Given the description of an element on the screen output the (x, y) to click on. 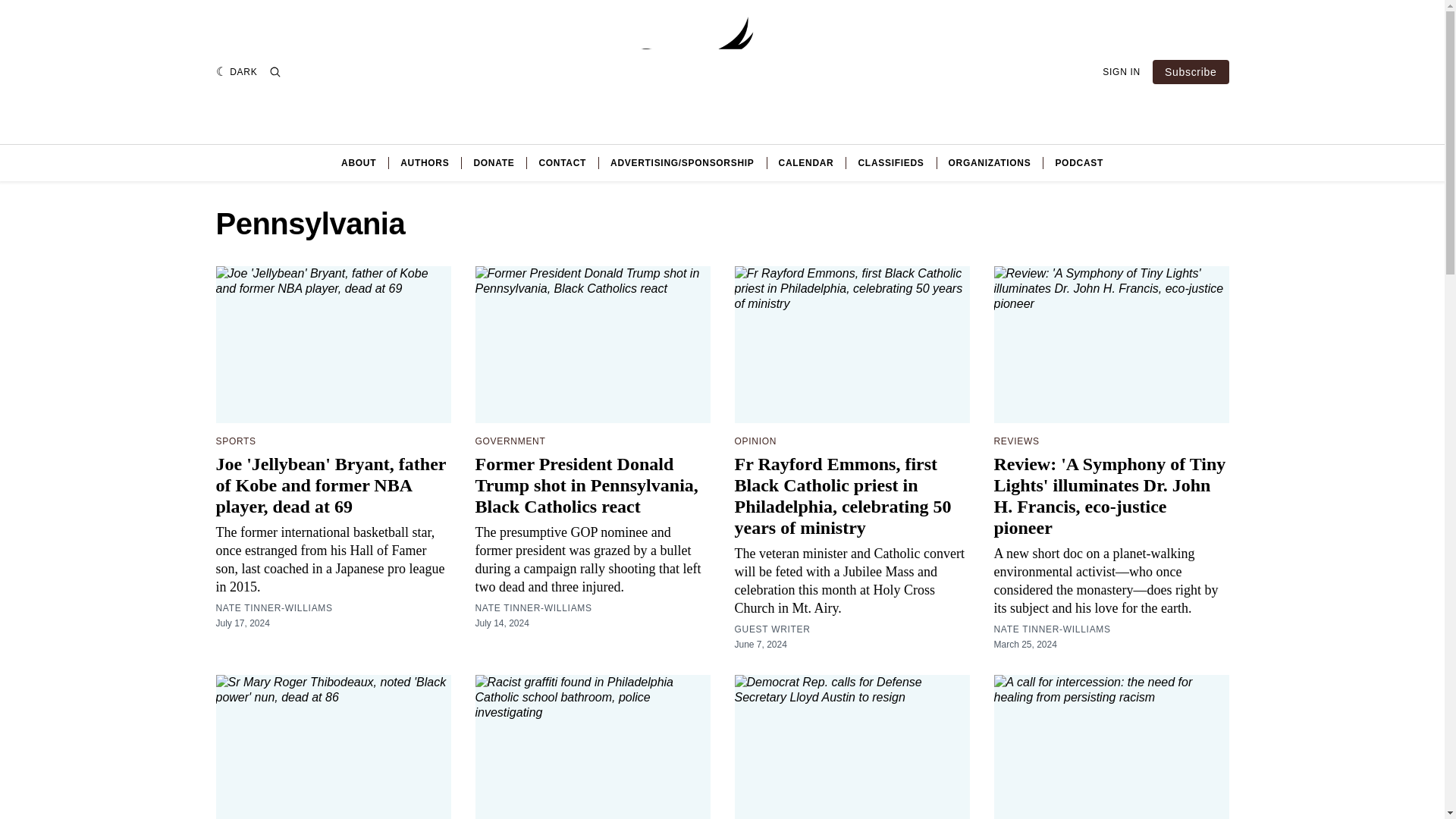
SPORTS (235, 440)
GUEST WRITER (771, 629)
NATE TINNER-WILLIAMS (1050, 629)
DONATE (493, 162)
ORGANIZATIONS (989, 162)
REVIEWS (1015, 440)
NATE TINNER-WILLIAMS (273, 607)
NATE TINNER-WILLIAMS (532, 607)
CONTACT (562, 162)
Subscribe (1190, 71)
GOVERNMENT (509, 440)
SIGN IN (1121, 71)
